Given the description of an element on the screen output the (x, y) to click on. 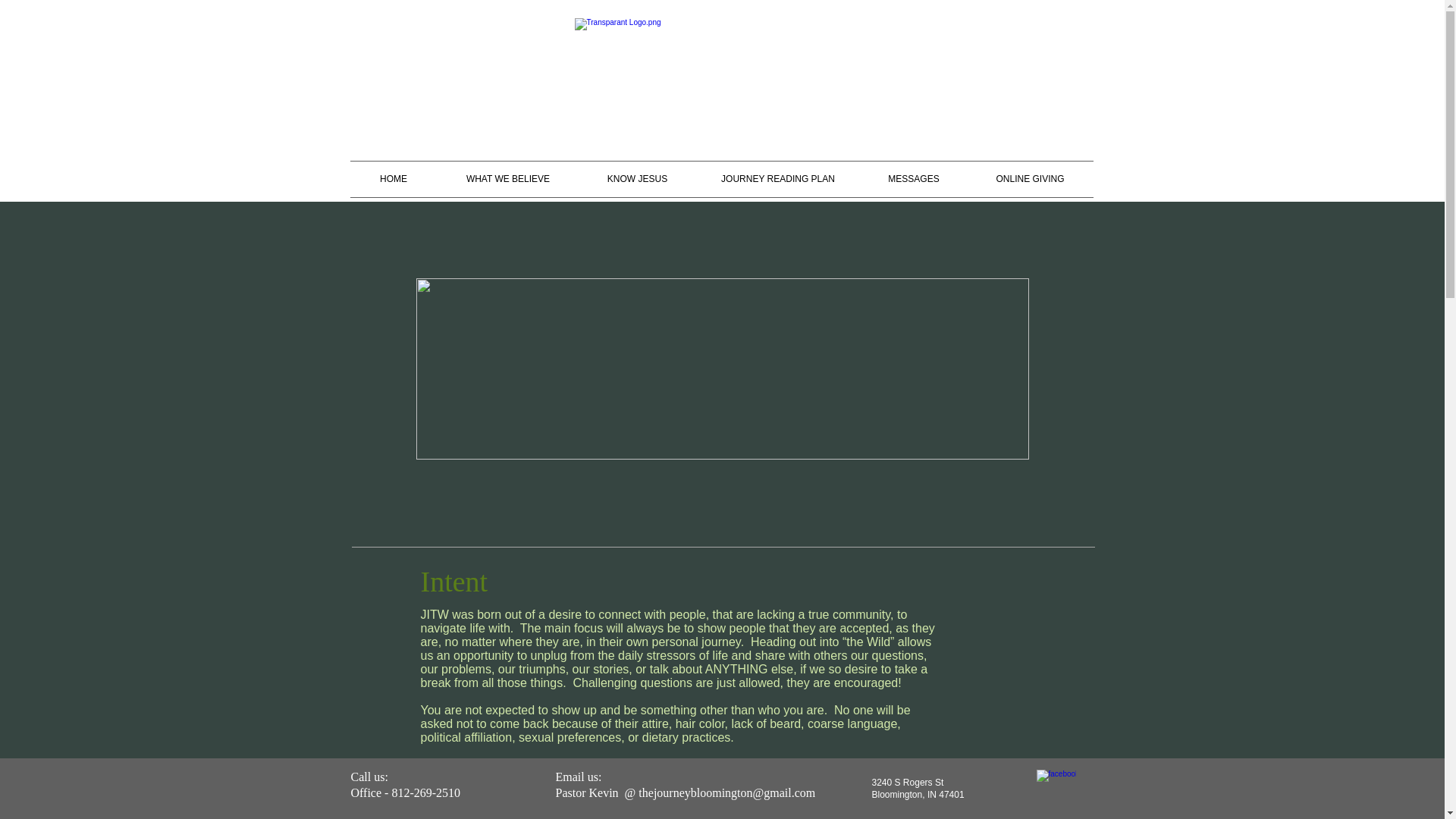
WHAT WE BELIEVE (507, 179)
JOURNEY READING PLAN (777, 179)
High Res Logo.png (722, 84)
KNOW JESUS (637, 179)
ONLINE GIVING (1030, 179)
HOME (394, 179)
MESSAGES (913, 179)
